Given the description of an element on the screen output the (x, y) to click on. 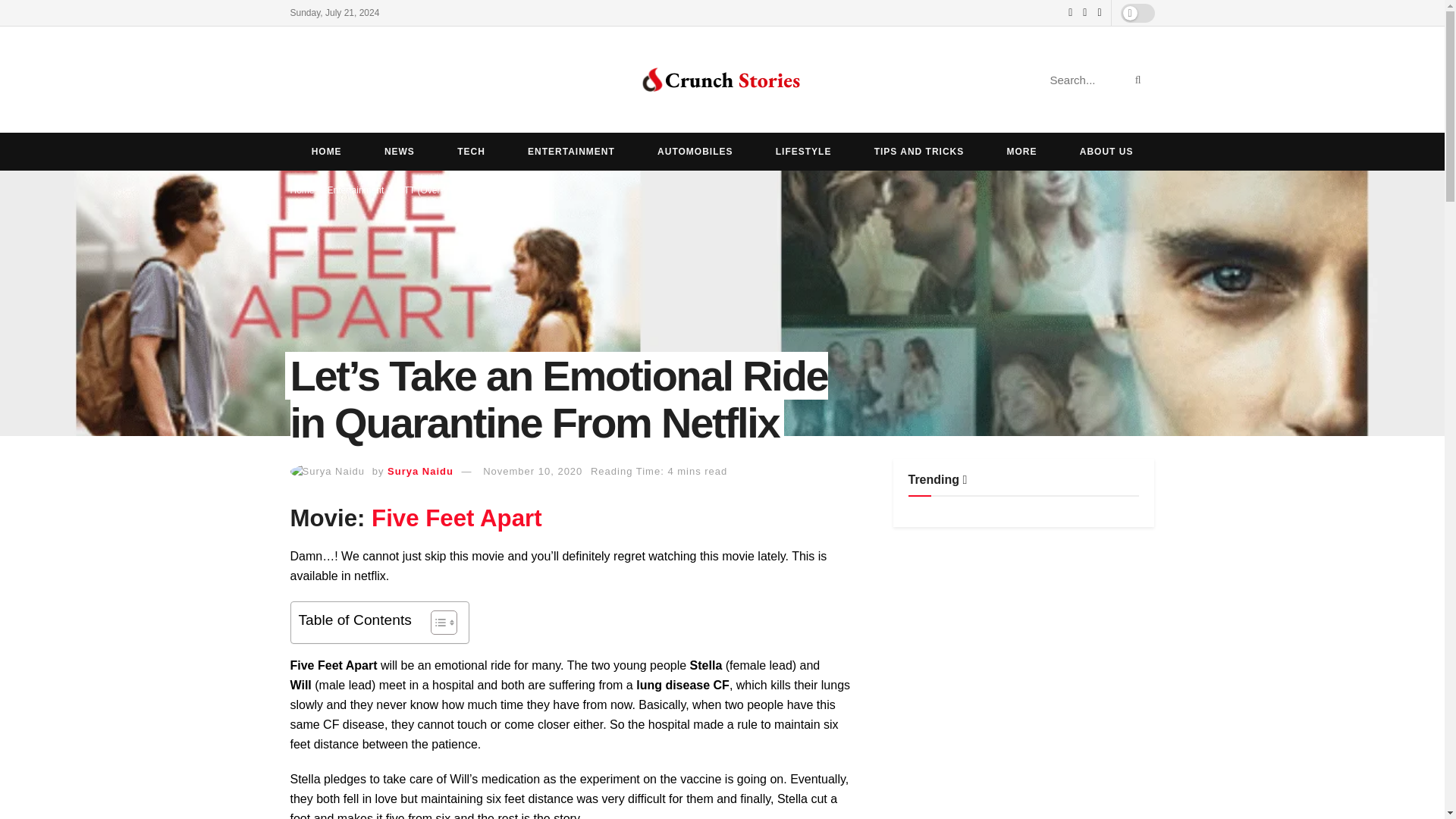
MORE (1021, 151)
TIPS AND TRICKS (919, 151)
AUTOMOBILES (695, 151)
Advertisement (1023, 651)
TECH (470, 151)
HOME (325, 151)
LIFESTYLE (803, 151)
ABOUT US (1106, 151)
NEWS (398, 151)
ENTERTAINMENT (571, 151)
